Given the description of an element on the screen output the (x, y) to click on. 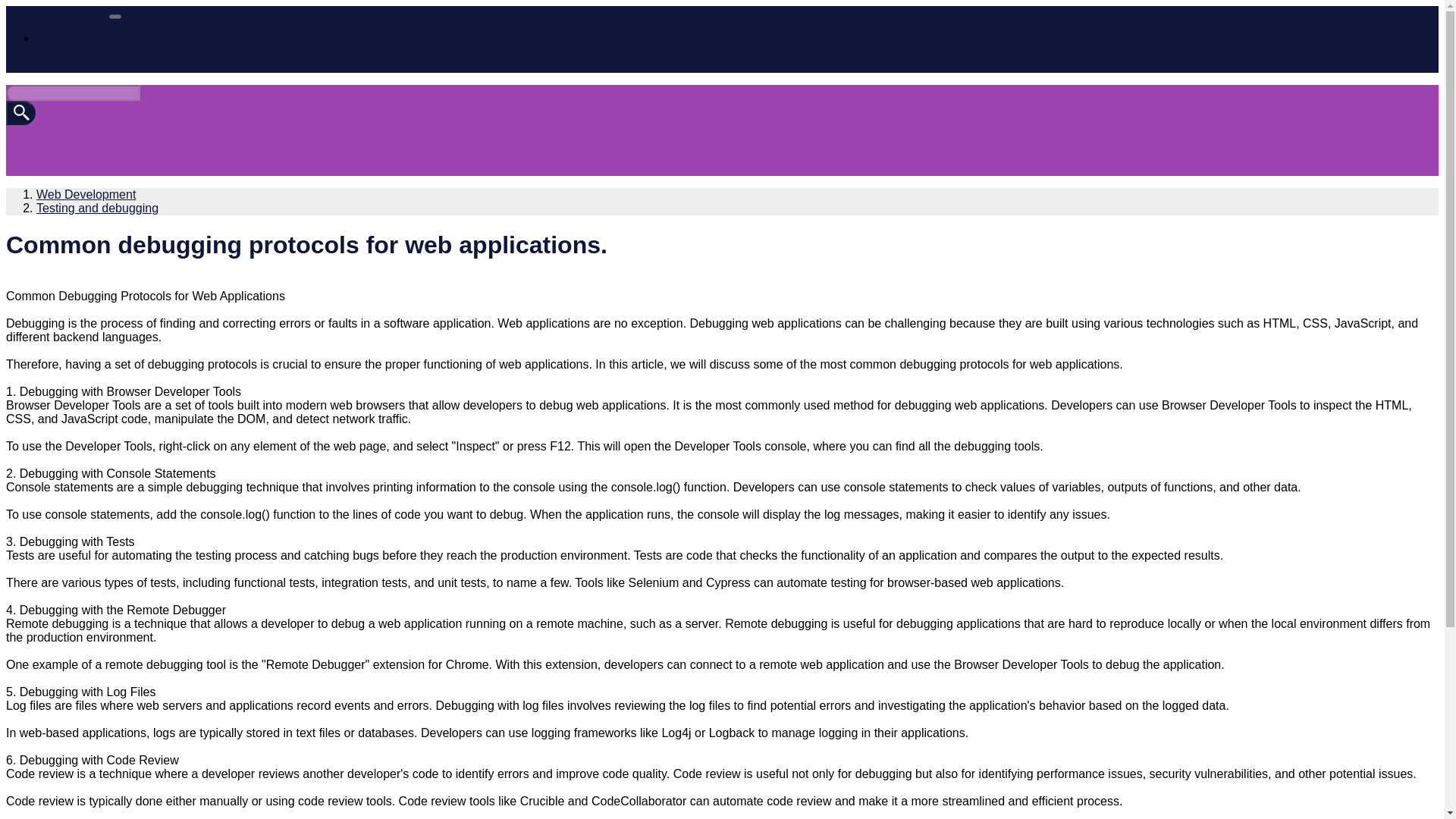
Blog (48, 38)
Web Development (54, 11)
Front-end development (98, 51)
Web Development (85, 194)
Testing and debugging (496, 65)
Responsive design (1291, 51)
Full-stack development (241, 65)
Version control (525, 51)
Cross-browser compatibility (1162, 51)
Security (590, 51)
